Given the description of an element on the screen output the (x, y) to click on. 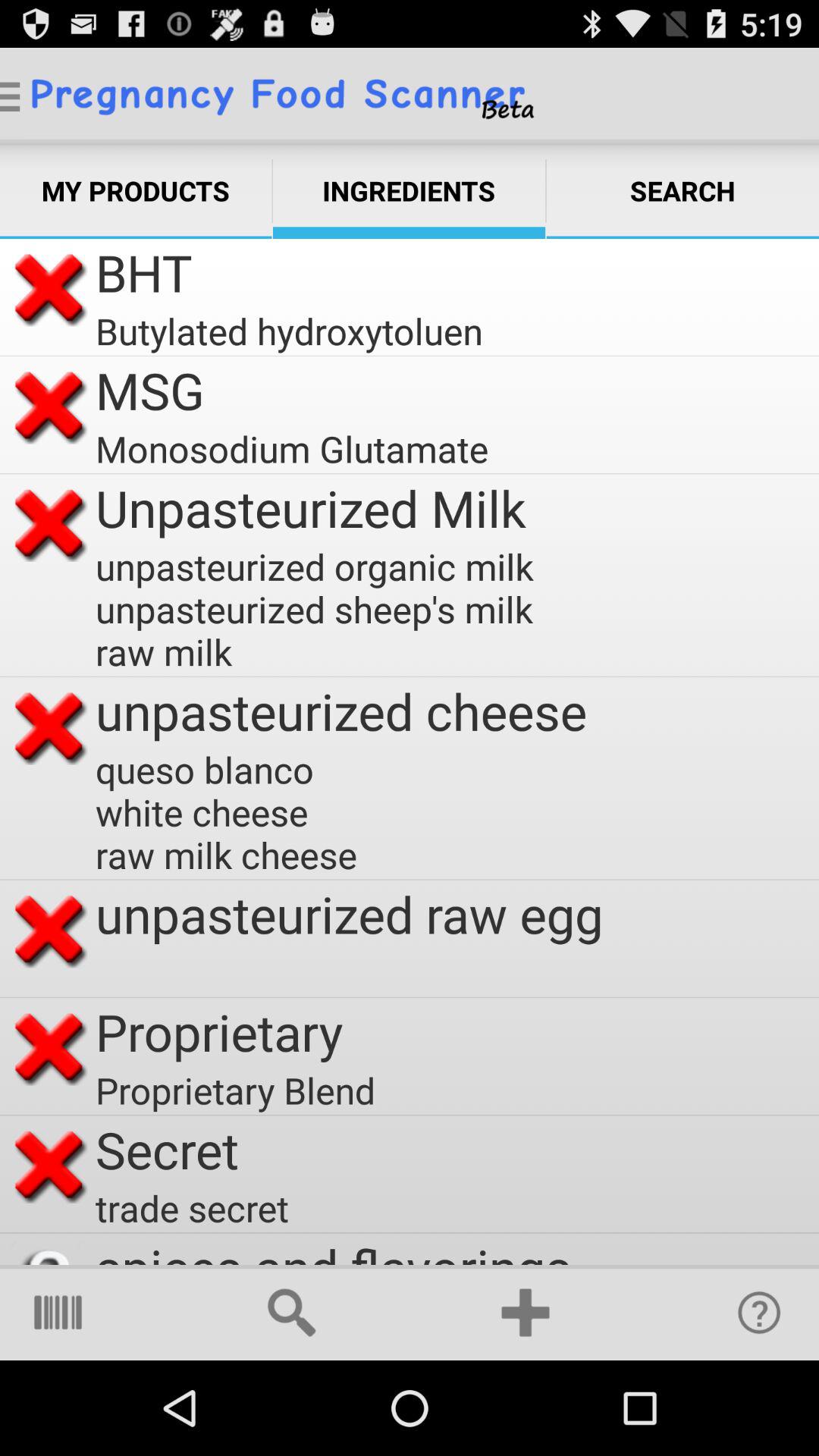
turn on item below the unpasteurized cheese icon (226, 812)
